Given the description of an element on the screen output the (x, y) to click on. 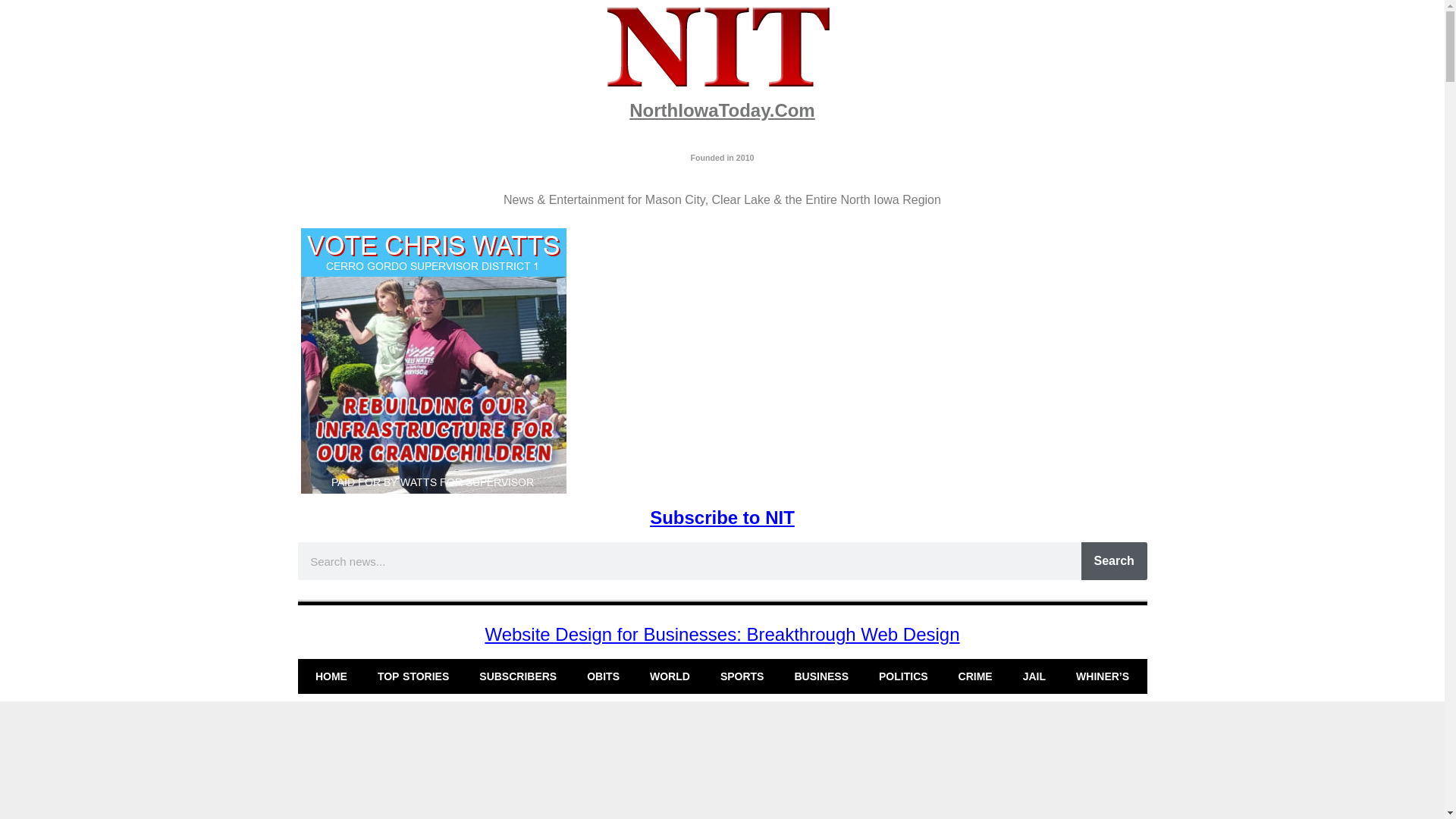
JAIL (1034, 676)
NorthIowaToday.Com (720, 109)
TOP STORIES (413, 676)
SPORTS (741, 676)
Advertisement (721, 764)
Website Design for Businesses: Breakthrough Web Design (721, 634)
OBITS (603, 676)
Subscribe to NIT (721, 516)
HOME (330, 676)
BUSINESS (820, 676)
